Given the description of an element on the screen output the (x, y) to click on. 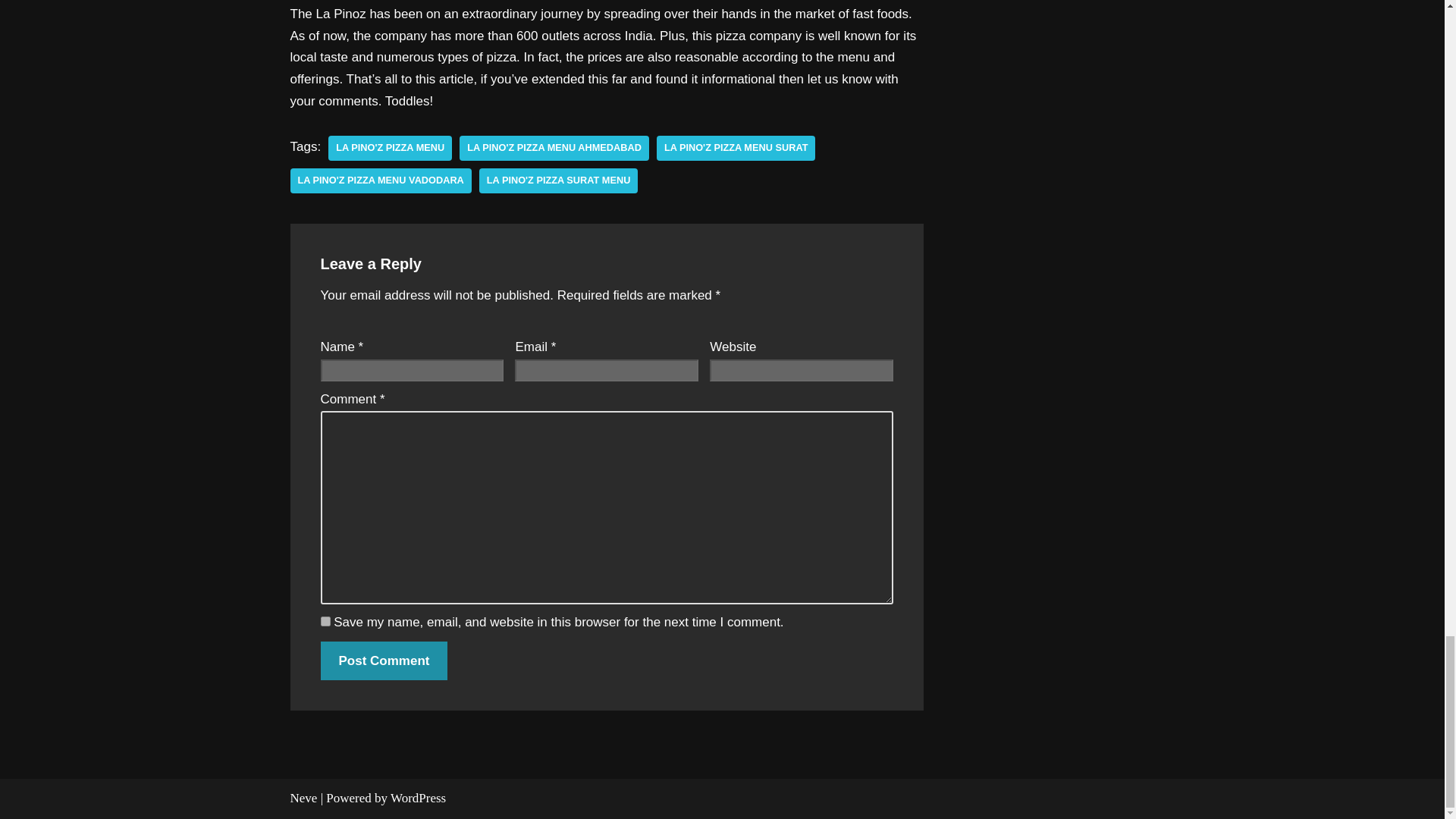
la pino'z pizza menu vadodara (379, 180)
Post Comment (383, 660)
la pino'z pizza menu ahmedabad (554, 147)
la pino'z pizza menu (390, 147)
la pino'z pizza menu surat (735, 147)
yes (325, 621)
